Given the description of an element on the screen output the (x, y) to click on. 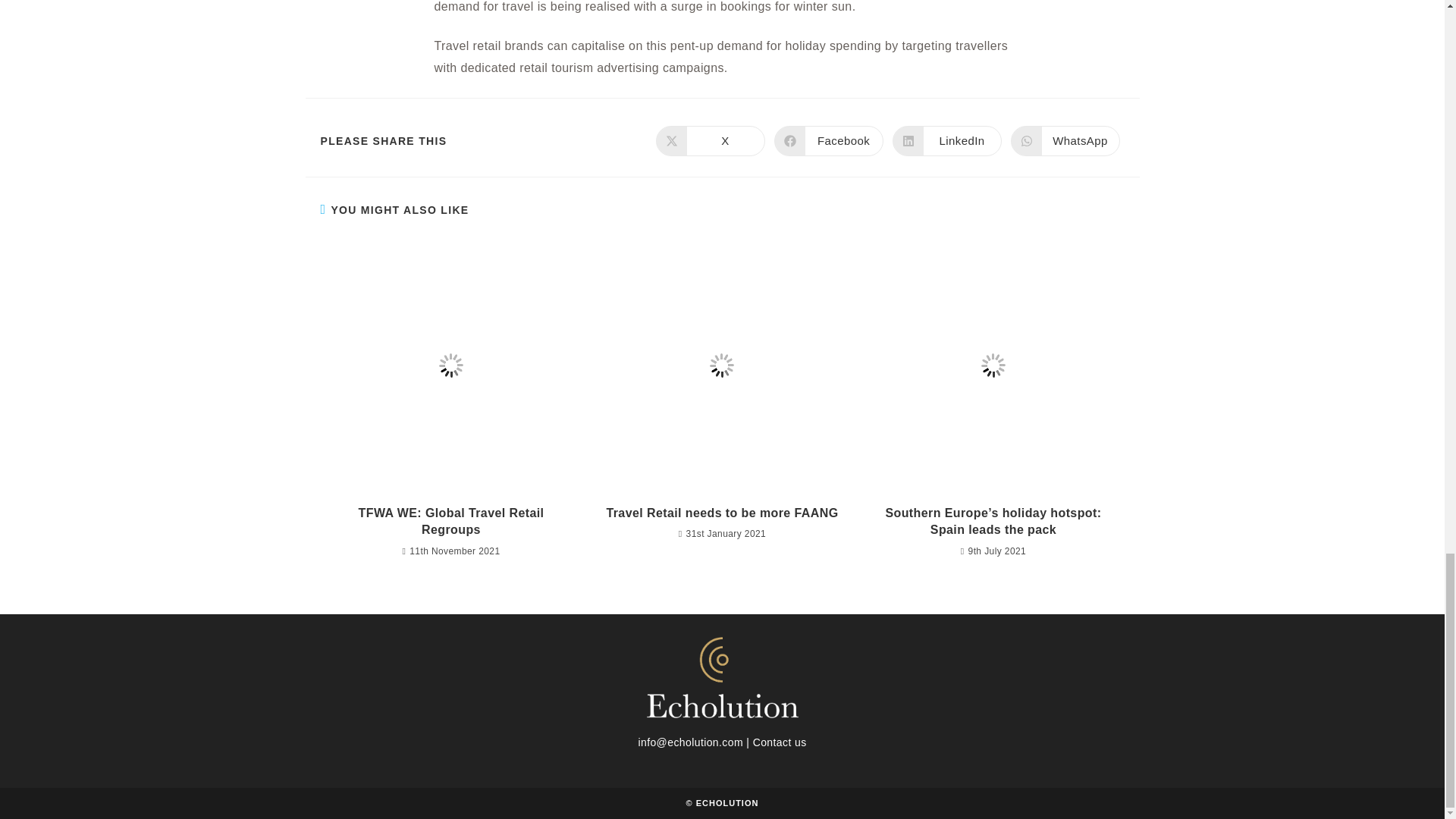
TFWA WE: Global Travel Retail Regroups (827, 141)
Travel Retail needs to be more FAANG (450, 521)
Contact us (709, 141)
